Given the description of an element on the screen output the (x, y) to click on. 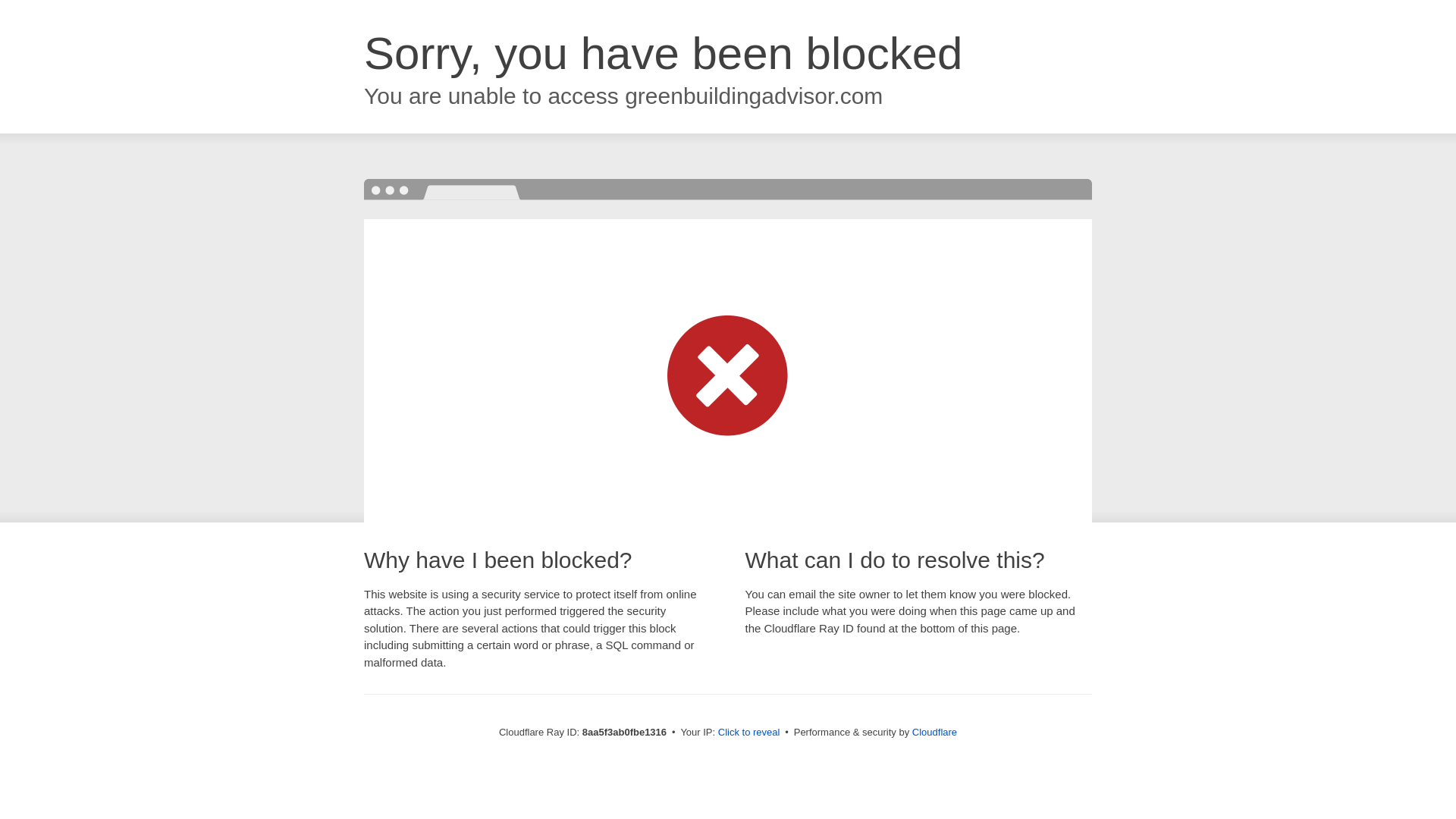
Click to reveal (748, 732)
Cloudflare (934, 731)
